Given the description of an element on the screen output the (x, y) to click on. 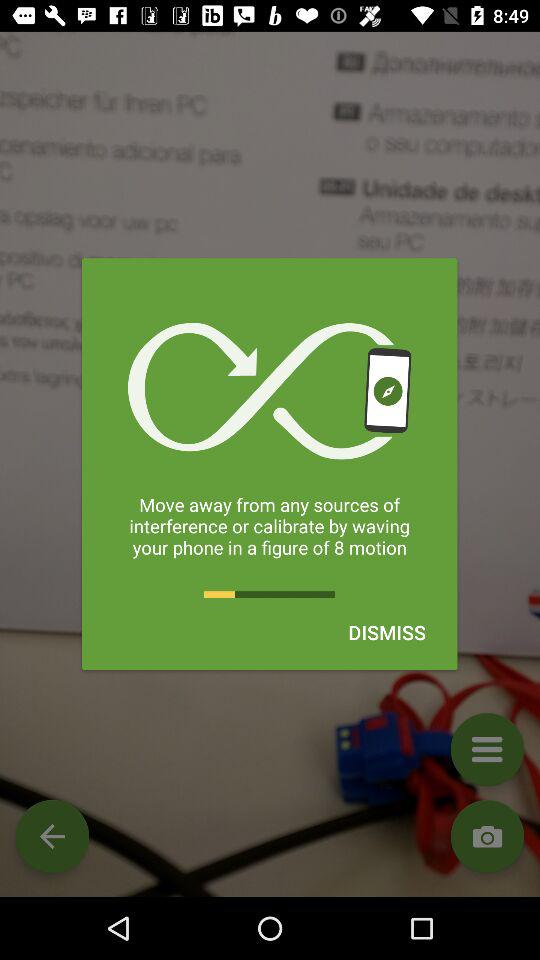
click the icon on the right (386, 632)
